Given the description of an element on the screen output the (x, y) to click on. 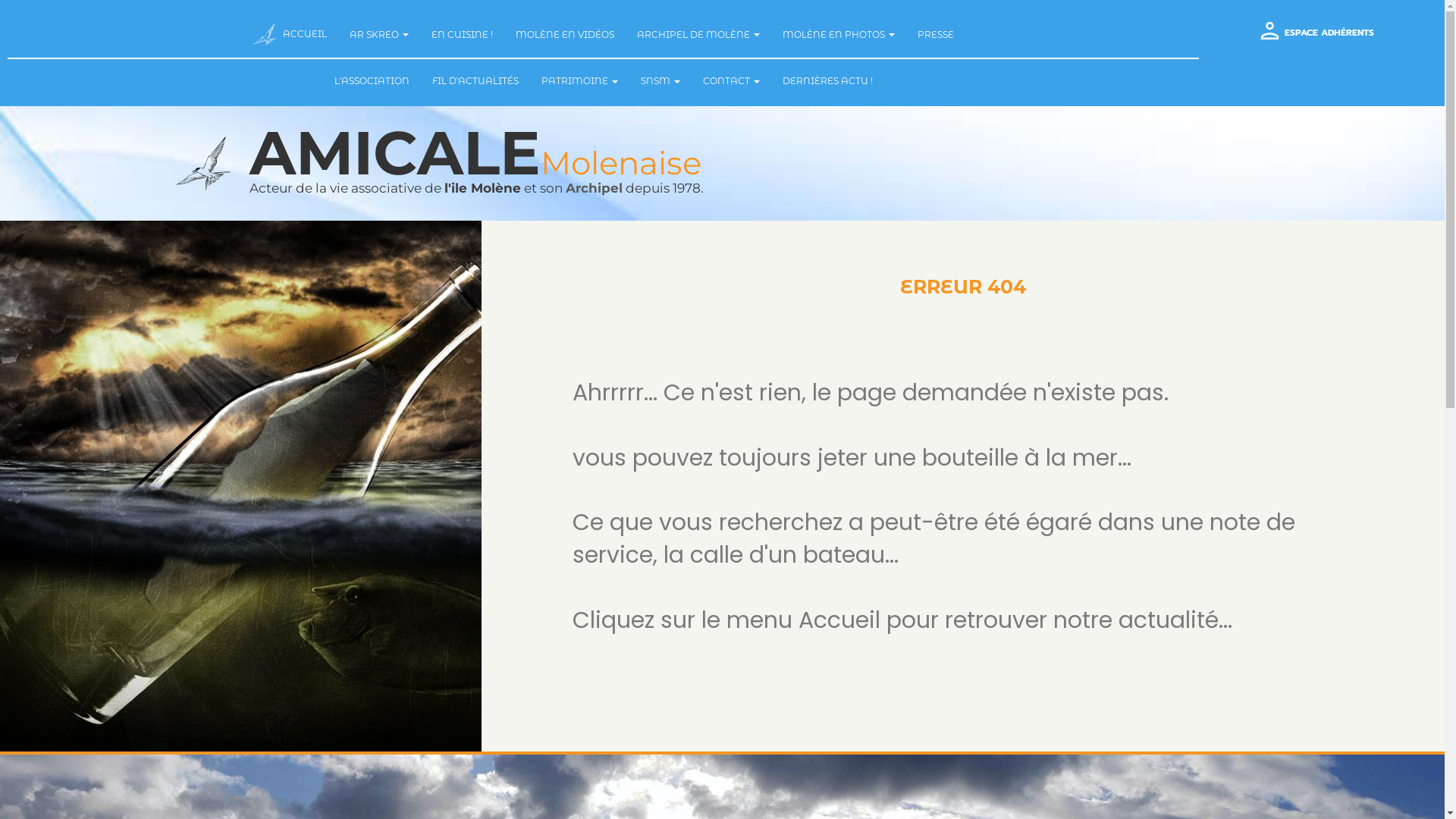
AR SKREO Element type: text (379, 34)
L'ASSOCIATION Element type: text (371, 80)
Archipel Element type: text (593, 187)
EN CUISINE ! Element type: text (462, 34)
ACCUEIL Element type: text (289, 34)
SNSM Element type: text (660, 80)
PATRIMOINE Element type: text (578, 80)
PRESSE Element type: text (934, 34)
CONTACT Element type: text (731, 80)
